Given the description of an element on the screen output the (x, y) to click on. 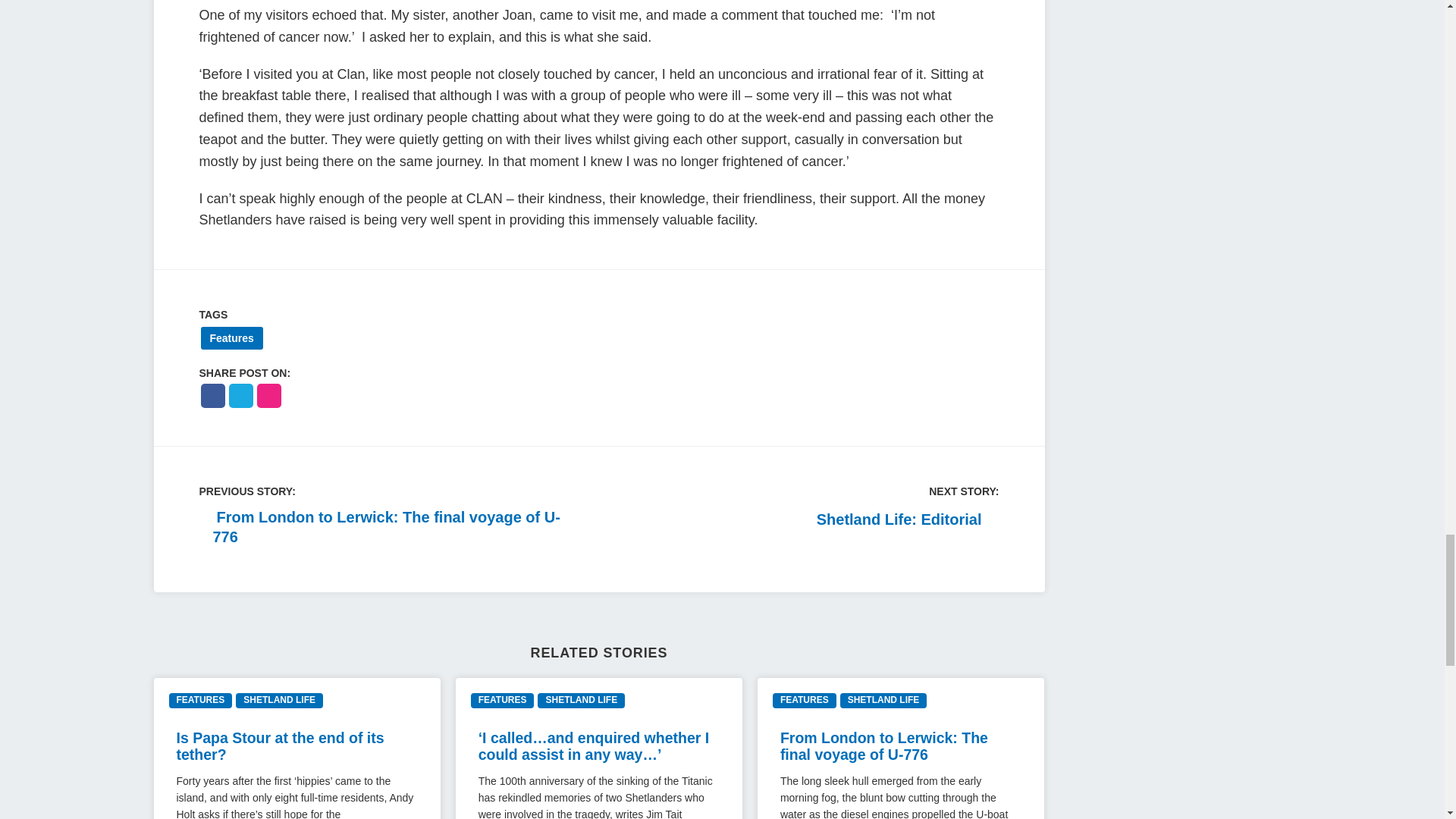
SHETLAND LIFE (580, 699)
Shetland Life: Editorial (907, 519)
Features (231, 337)
FEATURES (502, 699)
FEATURES (804, 699)
FEATURES (199, 699)
SHETLAND LIFE (883, 699)
From London to Lerwick: The final voyage of U-776 (390, 526)
From London to Lerwick: The final voyage of U-776 (884, 745)
SHETLAND LIFE (279, 699)
Is Papa Stour at the end of its tether? (280, 745)
